Given the description of an element on the screen output the (x, y) to click on. 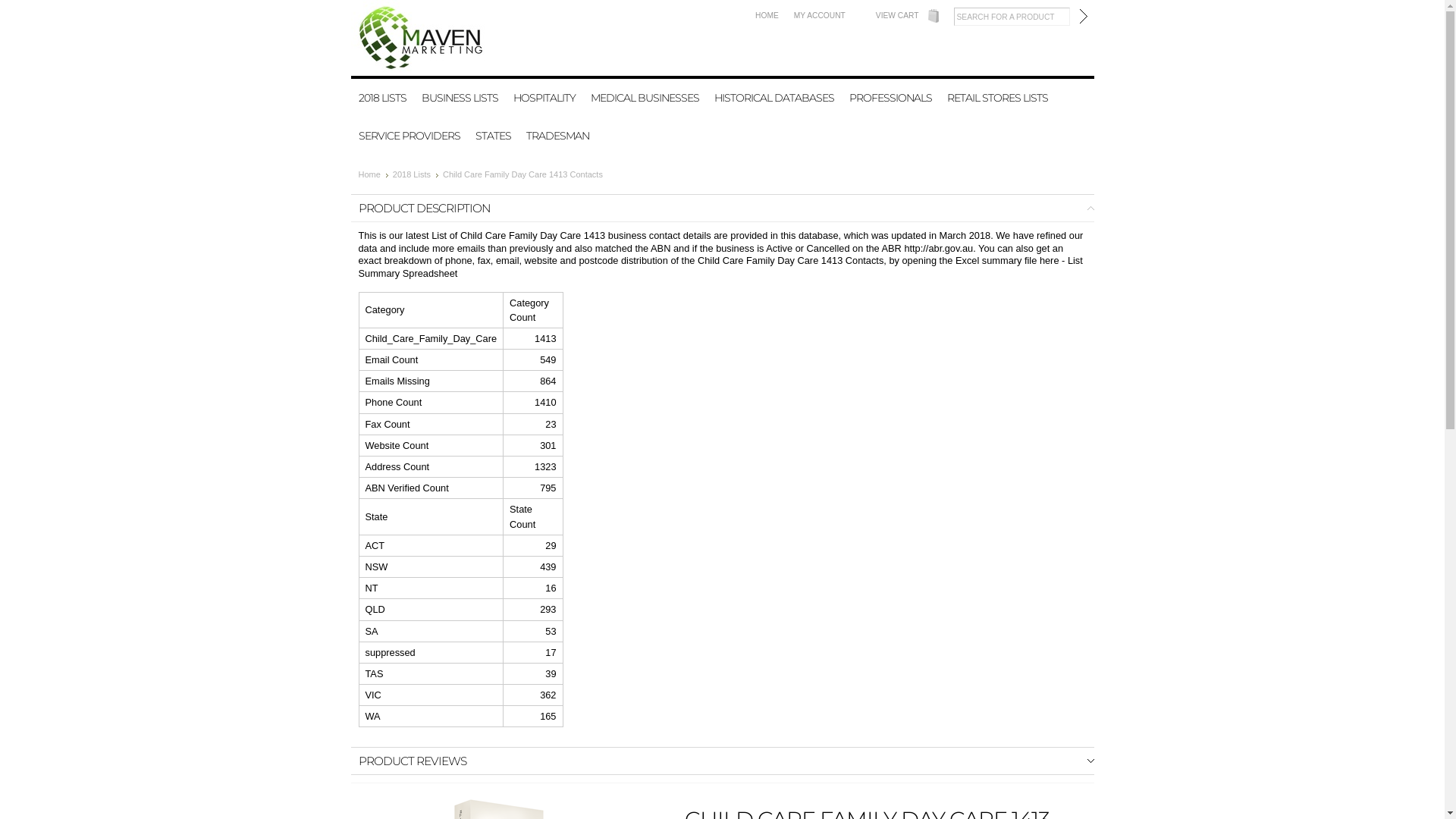
MY ACCOUNT Element type: text (819, 15)
Home Element type: text (372, 173)
PROFESSIONALS Element type: text (890, 97)
BUSINESS LISTS Element type: text (459, 97)
MEDICAL BUSINESSES Element type: text (643, 97)
TRADESMAN Element type: text (557, 135)
VIEW CART Element type: text (897, 15)
RETAIL STORES LISTS Element type: text (996, 97)
2018 Lists Element type: text (415, 173)
SERVICE PROVIDERS Element type: text (408, 135)
2018 LISTS Element type: text (381, 97)
HOSPITALITY Element type: text (543, 97)
HOME Element type: text (766, 15)
List Summary Spreadsheet Element type: text (719, 266)
STATES Element type: text (492, 135)
HISTORICAL DATABASES Element type: text (774, 97)
